Given the description of an element on the screen output the (x, y) to click on. 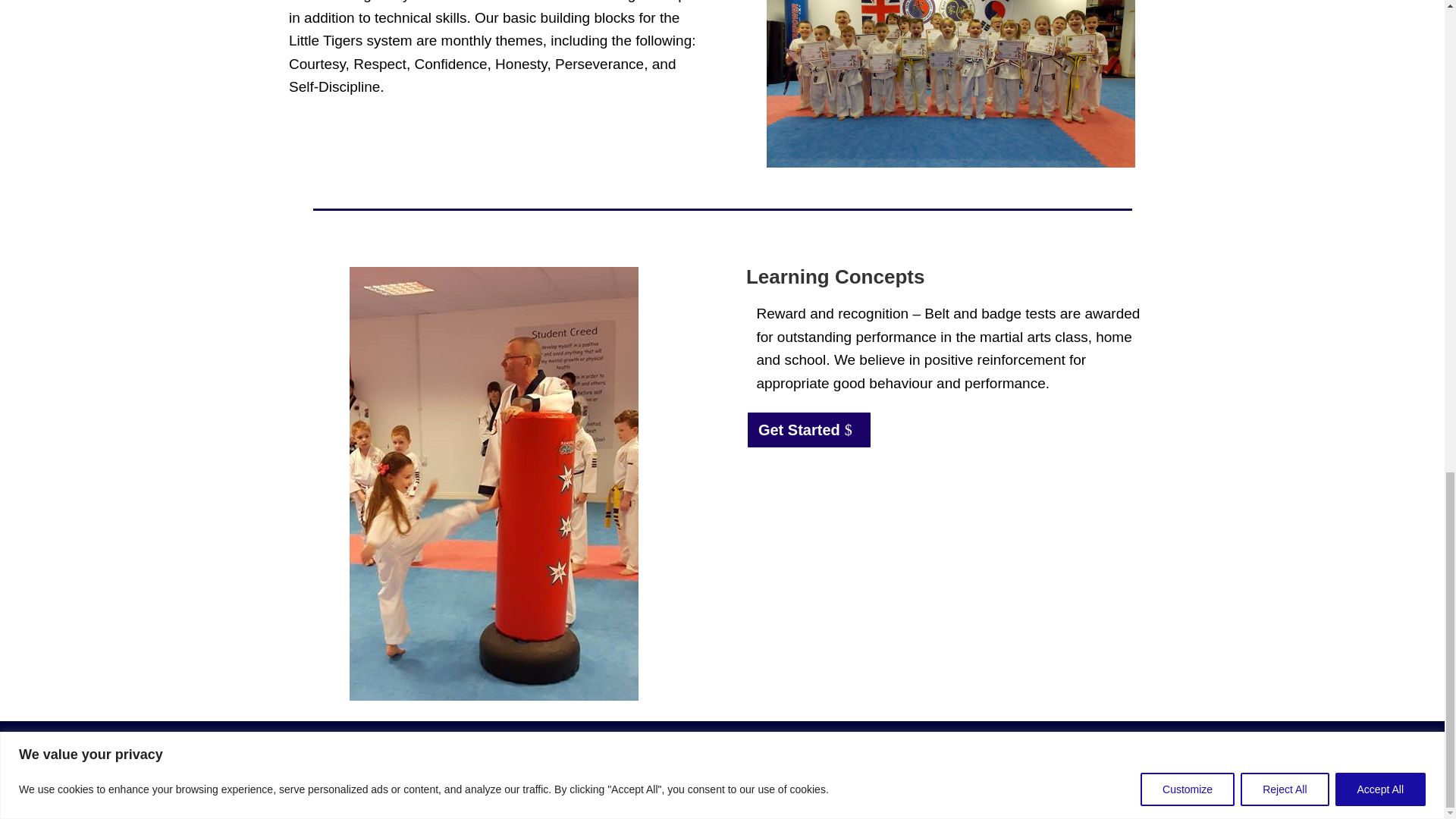
Click here for Web Design Experts (794, 747)
Privacy Policy (678, 766)
Terms of Service (759, 766)
Get Started (808, 429)
